Given the description of an element on the screen output the (x, y) to click on. 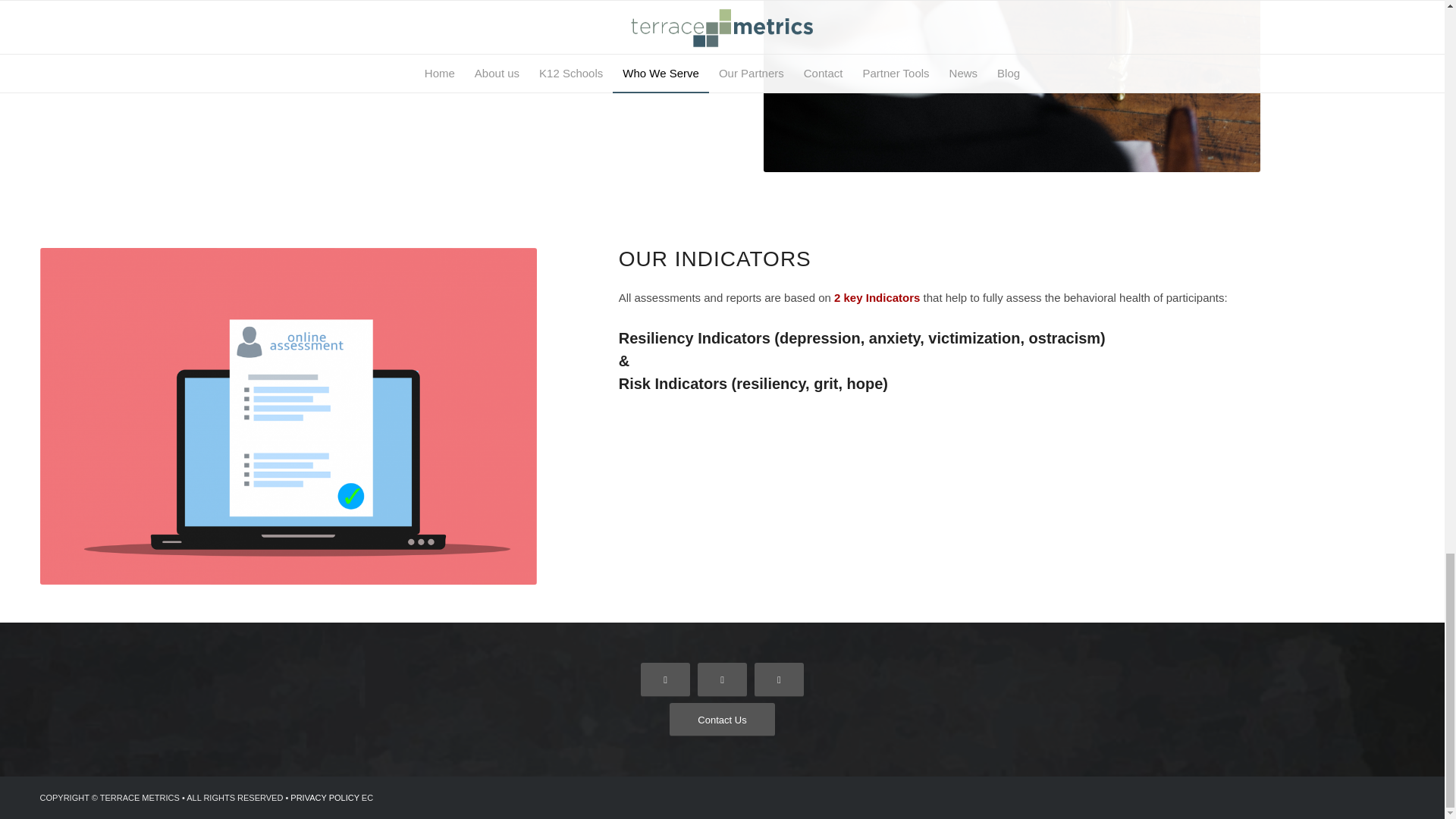
pexels-cottonbro-4098369 (1010, 86)
Contact Us (721, 719)
PRIVACY POLICY (323, 797)
